Given the description of an element on the screen output the (x, y) to click on. 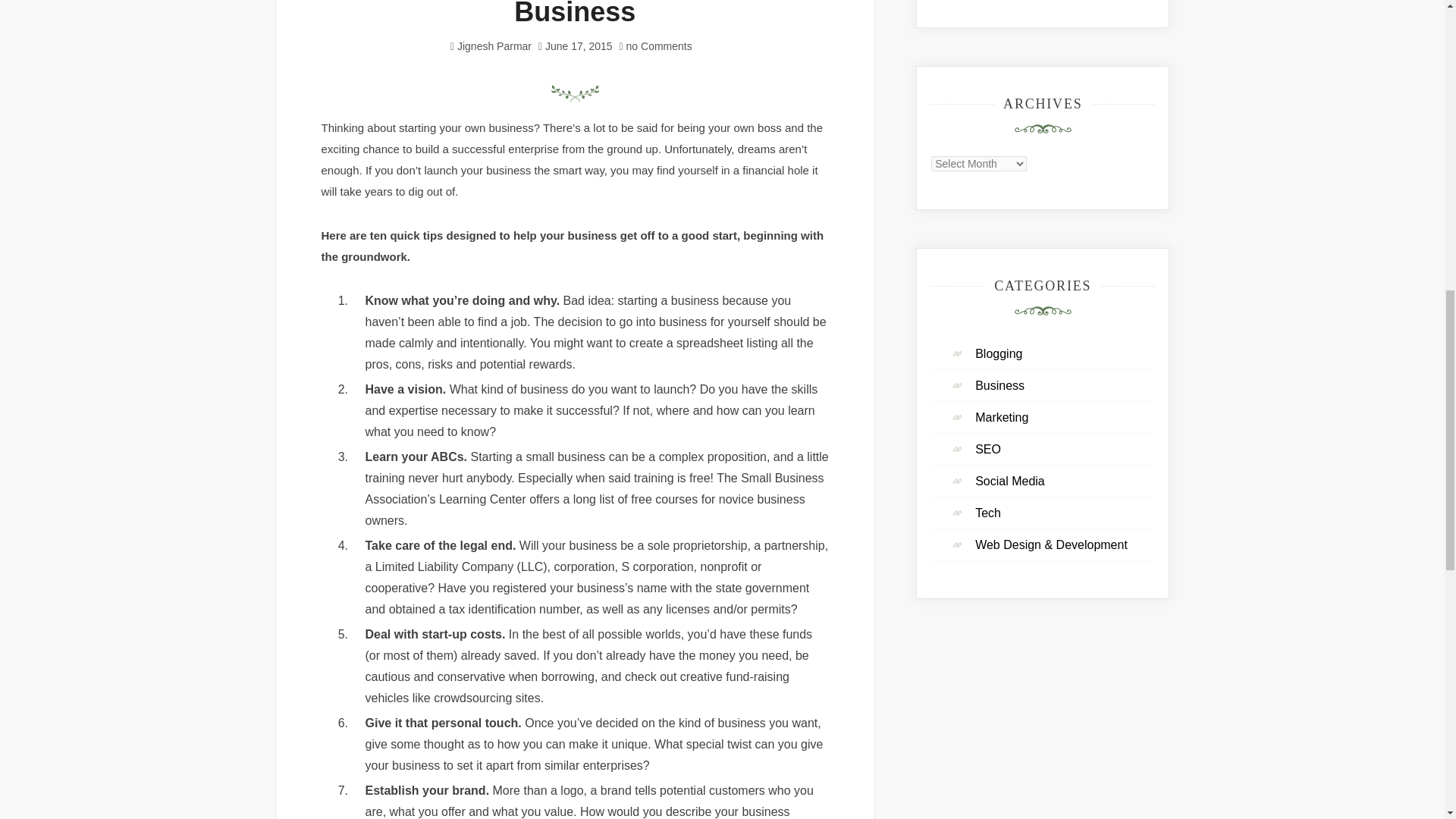
Posts by Jignesh Parmar (494, 46)
Jignesh Parmar (494, 46)
no Comments (656, 46)
Blogging (1005, 353)
June 17, 2015 (578, 46)
10 Quick Tips to Launching Your Small Business (575, 13)
